Given the description of an element on the screen output the (x, y) to click on. 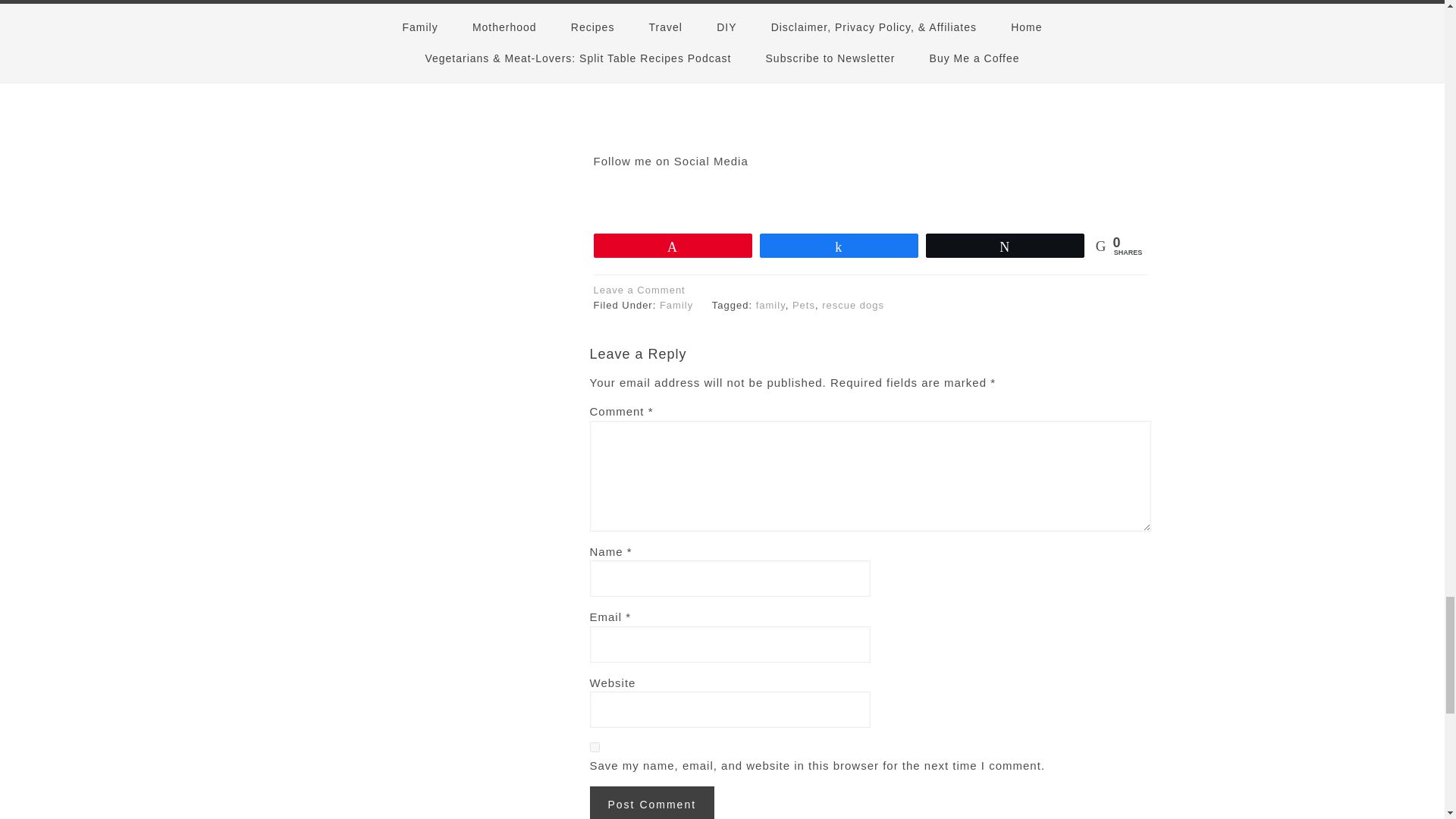
Instagram (870, 193)
family (770, 305)
Facebook (773, 193)
Post Comment (651, 802)
Twitter (821, 193)
Pinterest (919, 193)
Leave a Comment (638, 289)
Family (676, 305)
Email (967, 193)
yes (594, 747)
rescue dogs (852, 305)
Pets (803, 305)
Post Comment (651, 802)
